Given the description of an element on the screen output the (x, y) to click on. 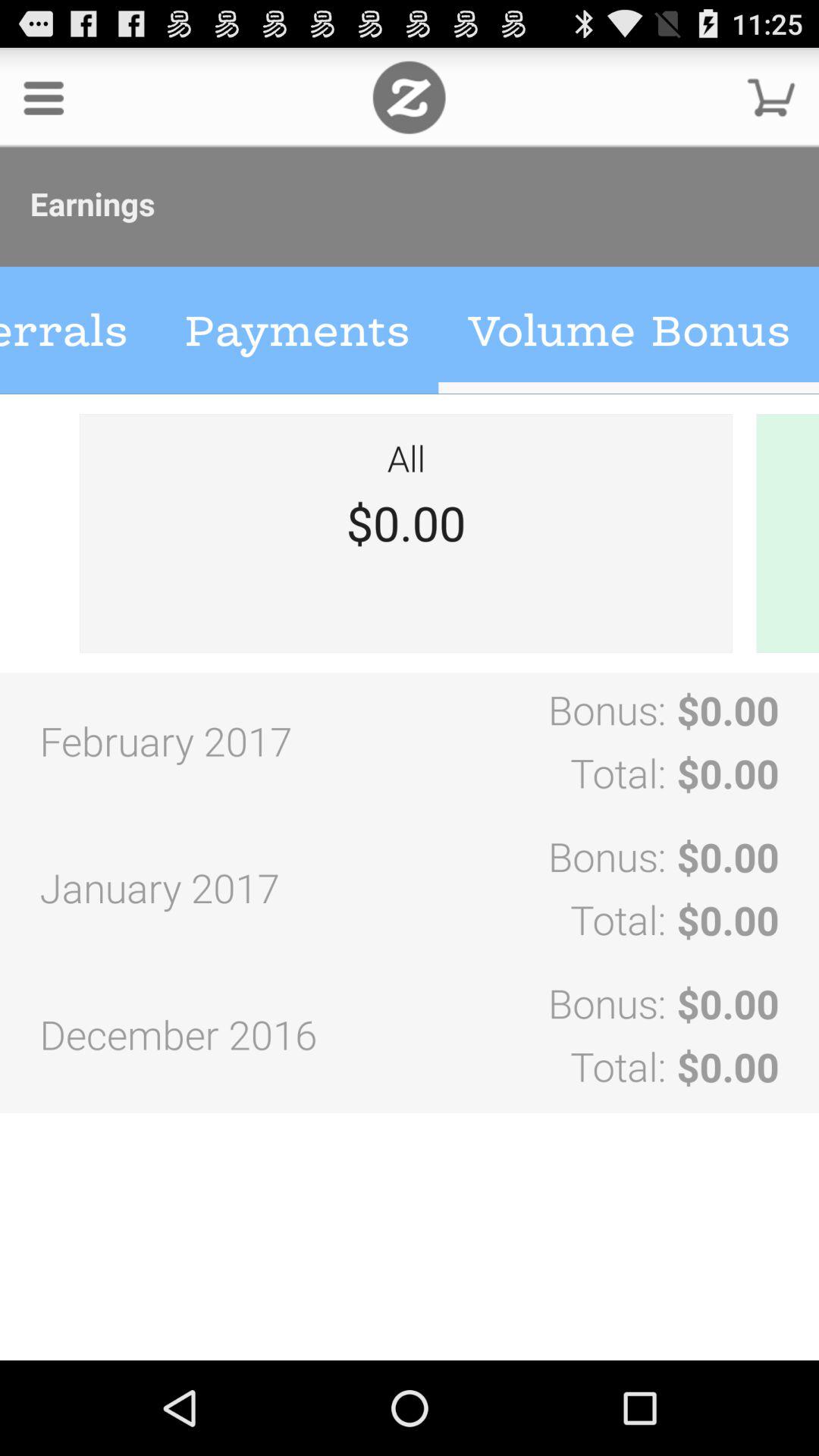
go to cart (771, 97)
